Given the description of an element on the screen output the (x, y) to click on. 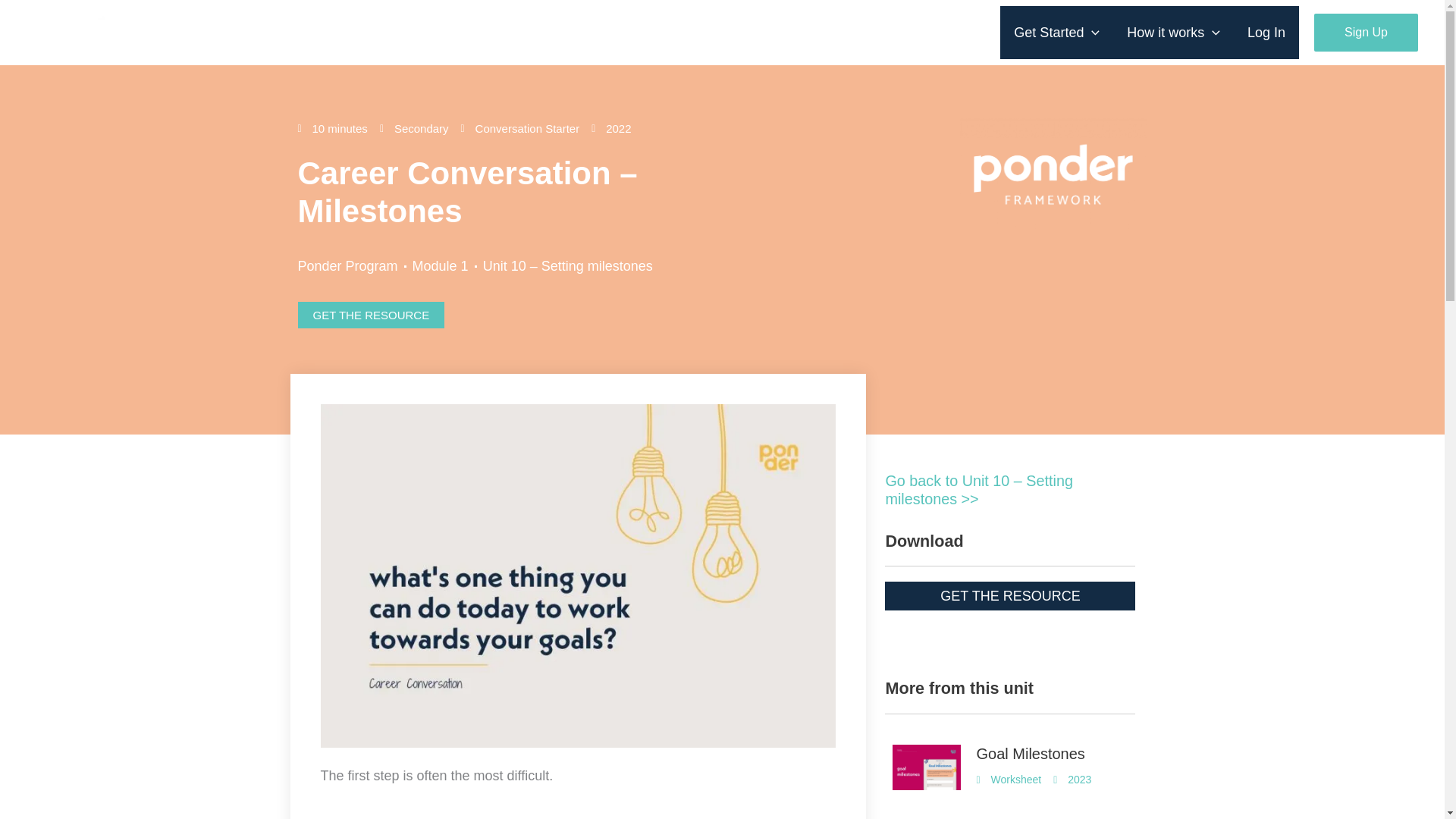
Get Started (1056, 31)
Log In (1265, 31)
Sign Up (1366, 32)
How it works (1173, 31)
